Given the description of an element on the screen output the (x, y) to click on. 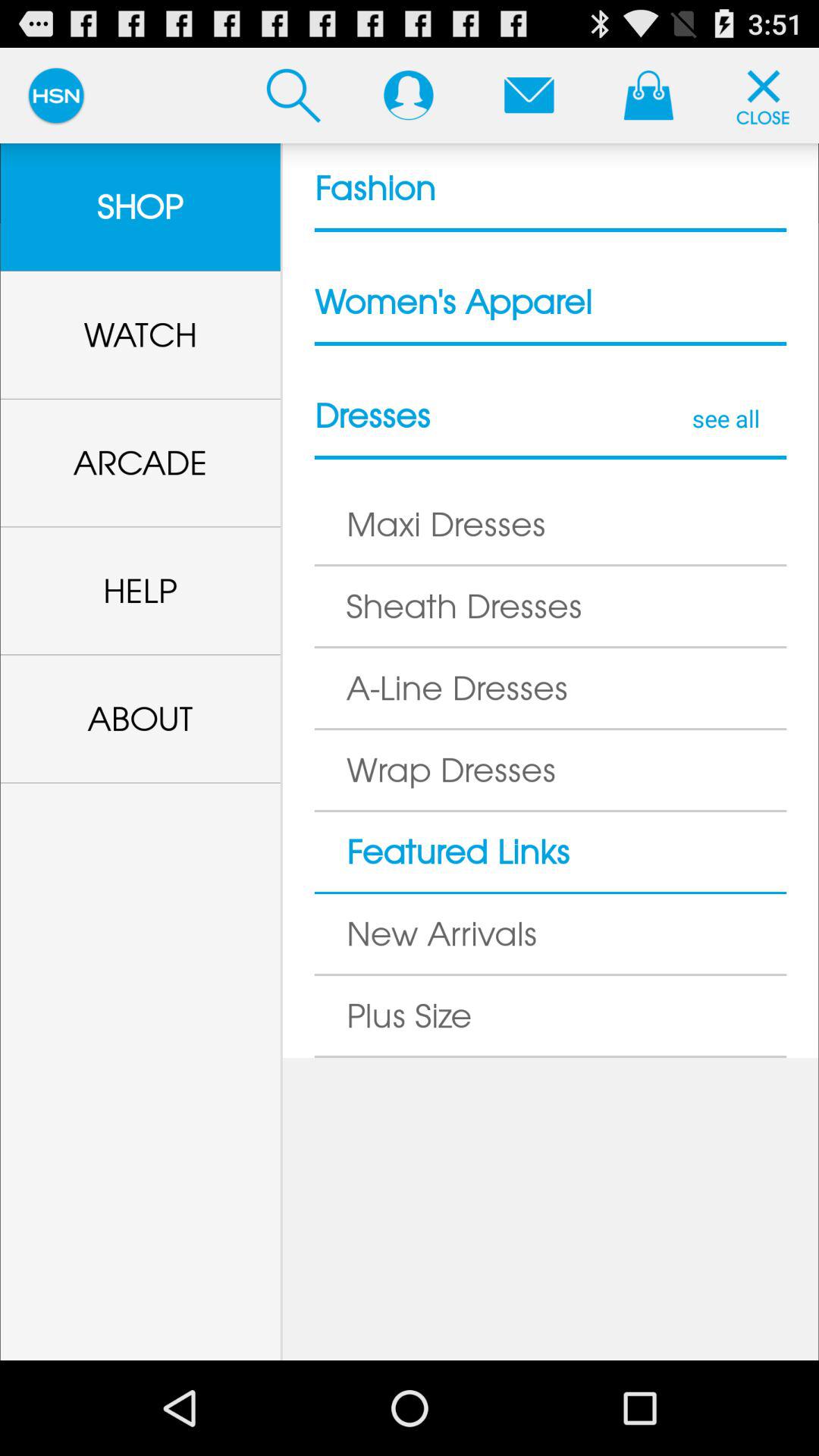
go to profile (408, 95)
